Given the description of an element on the screen output the (x, y) to click on. 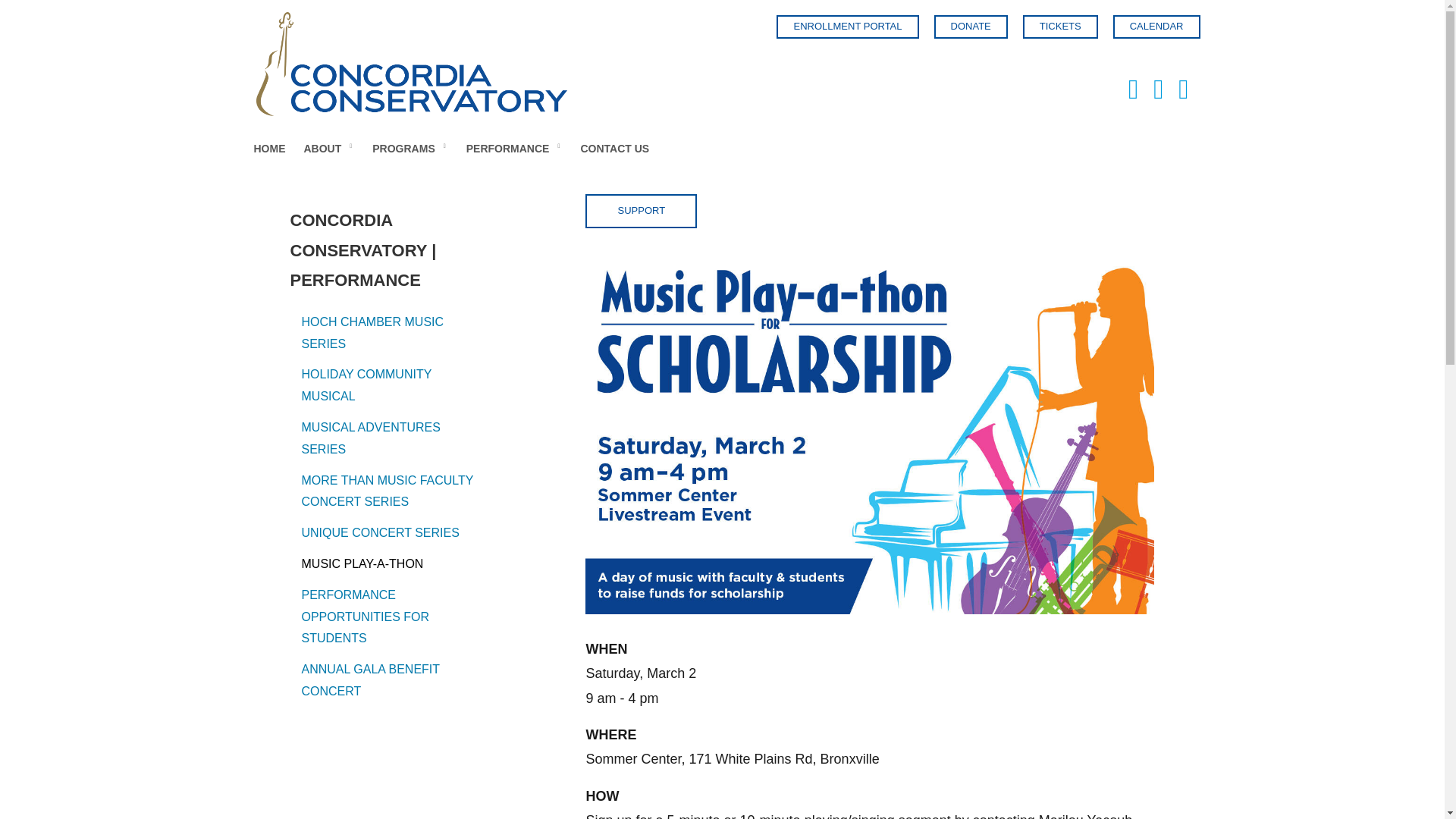
PERFORMANCE (514, 148)
ENROLLMENT PORTAL (847, 26)
HOME (269, 148)
ABOUT (328, 148)
PROGRAMS (409, 148)
TICKETS (1060, 26)
CALENDAR (1156, 26)
DONATE (970, 26)
